Given the description of an element on the screen output the (x, y) to click on. 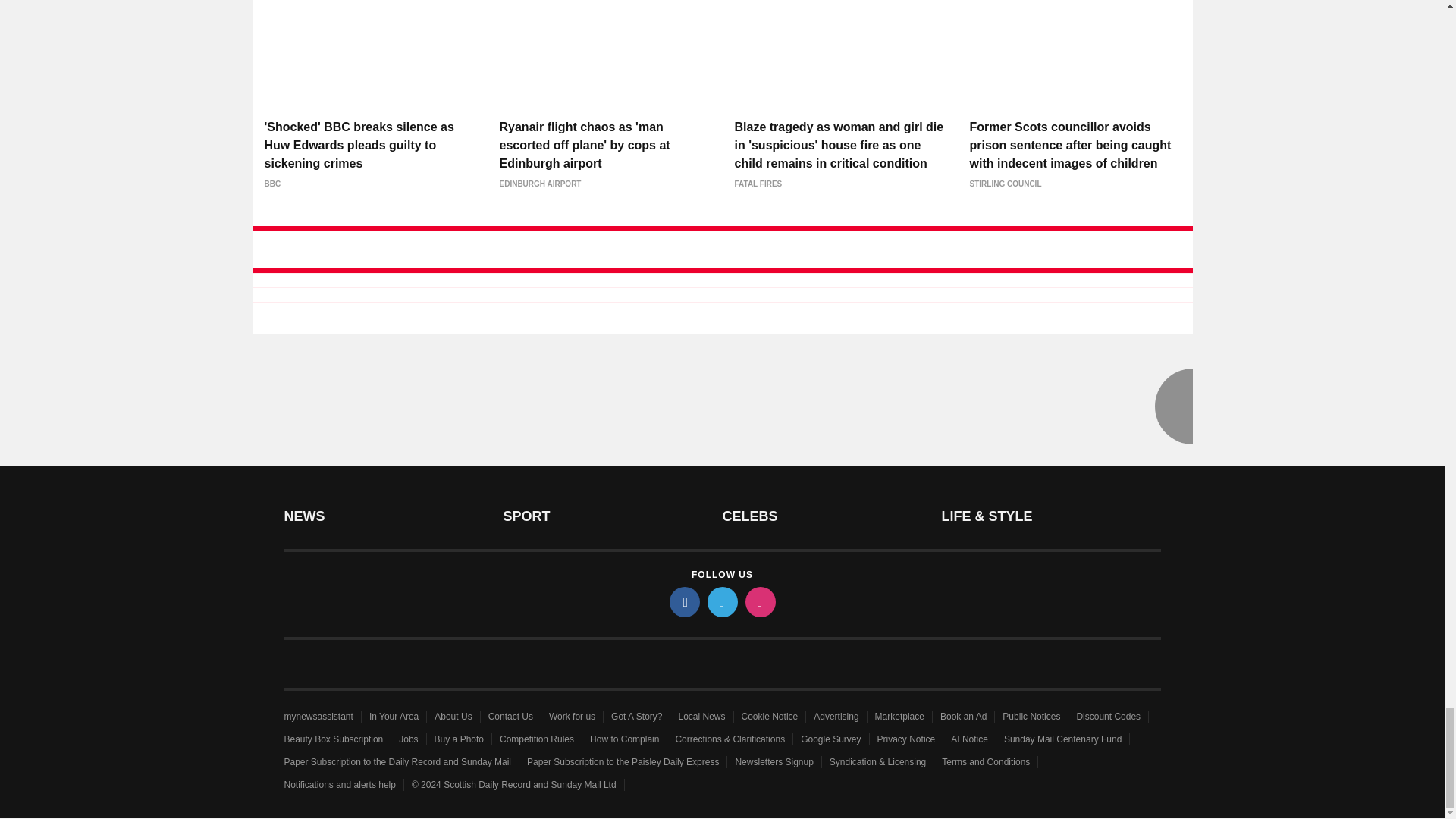
twitter (721, 602)
instagram (759, 602)
facebook (683, 602)
